Given the description of an element on the screen output the (x, y) to click on. 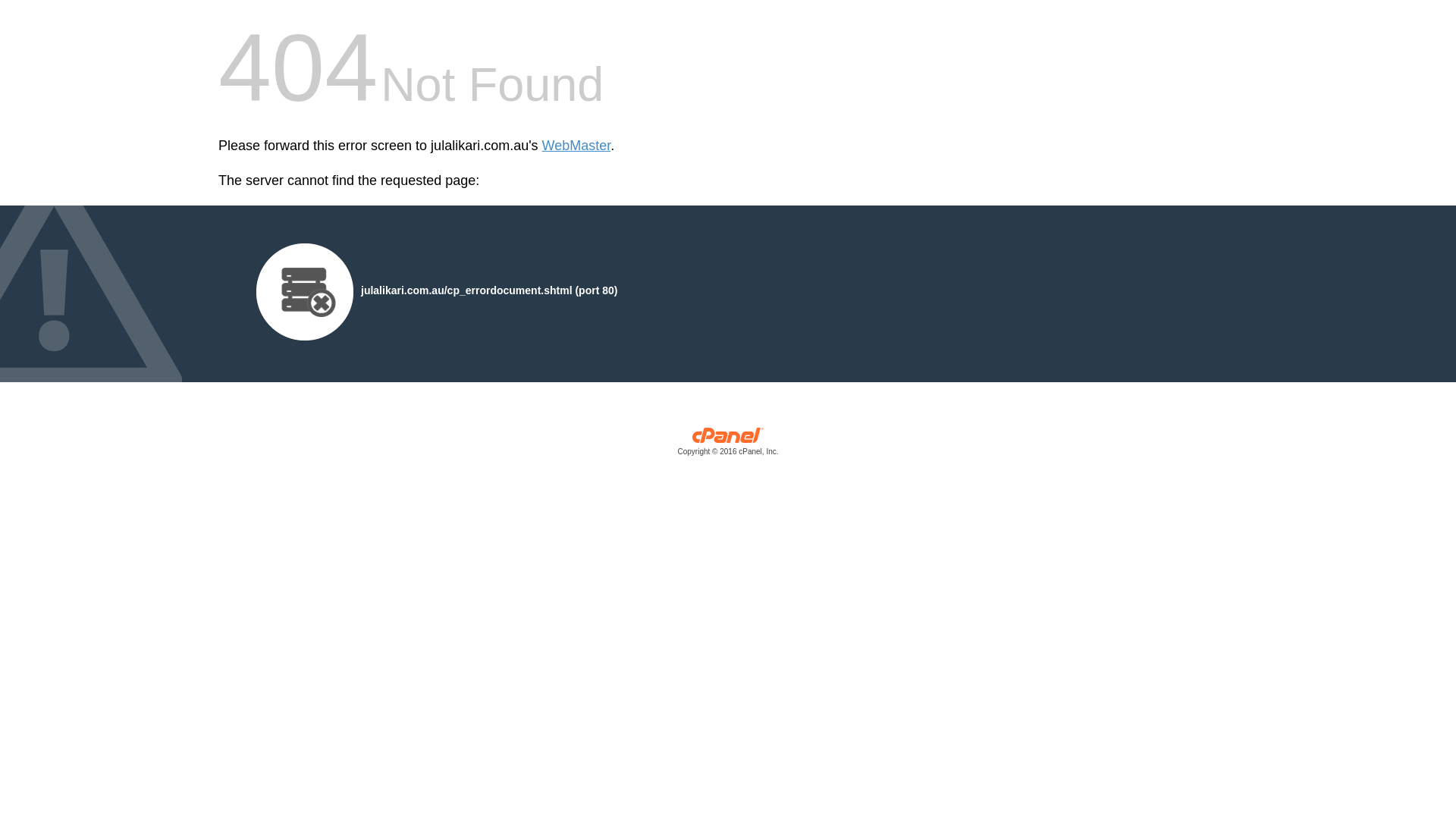
WebMaster Element type: text (576, 145)
